Given the description of an element on the screen output the (x, y) to click on. 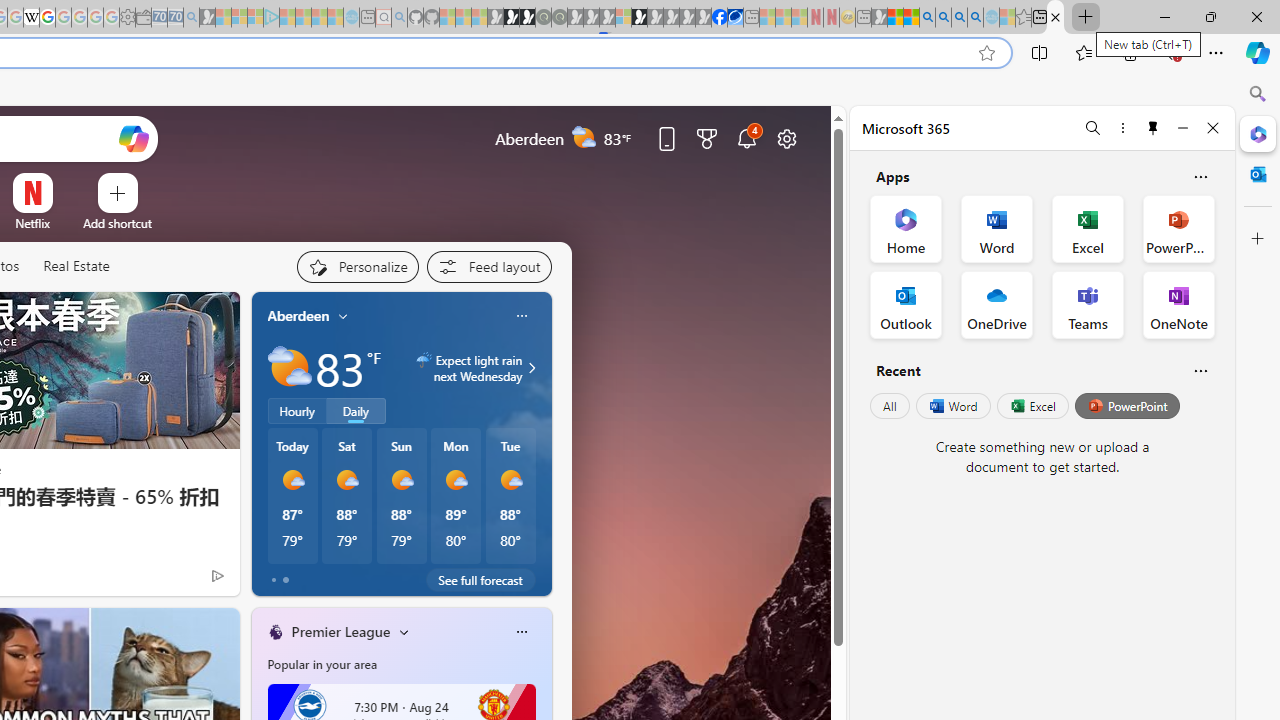
Expect light rain next Wednesday (529, 367)
Netflix (32, 223)
Microsoft Start - Sleeping (319, 17)
More options (1122, 127)
Real Estate (76, 265)
Hourly (296, 411)
Open Copilot (132, 138)
Favorites - Sleeping (1023, 17)
